Given the description of an element on the screen output the (x, y) to click on. 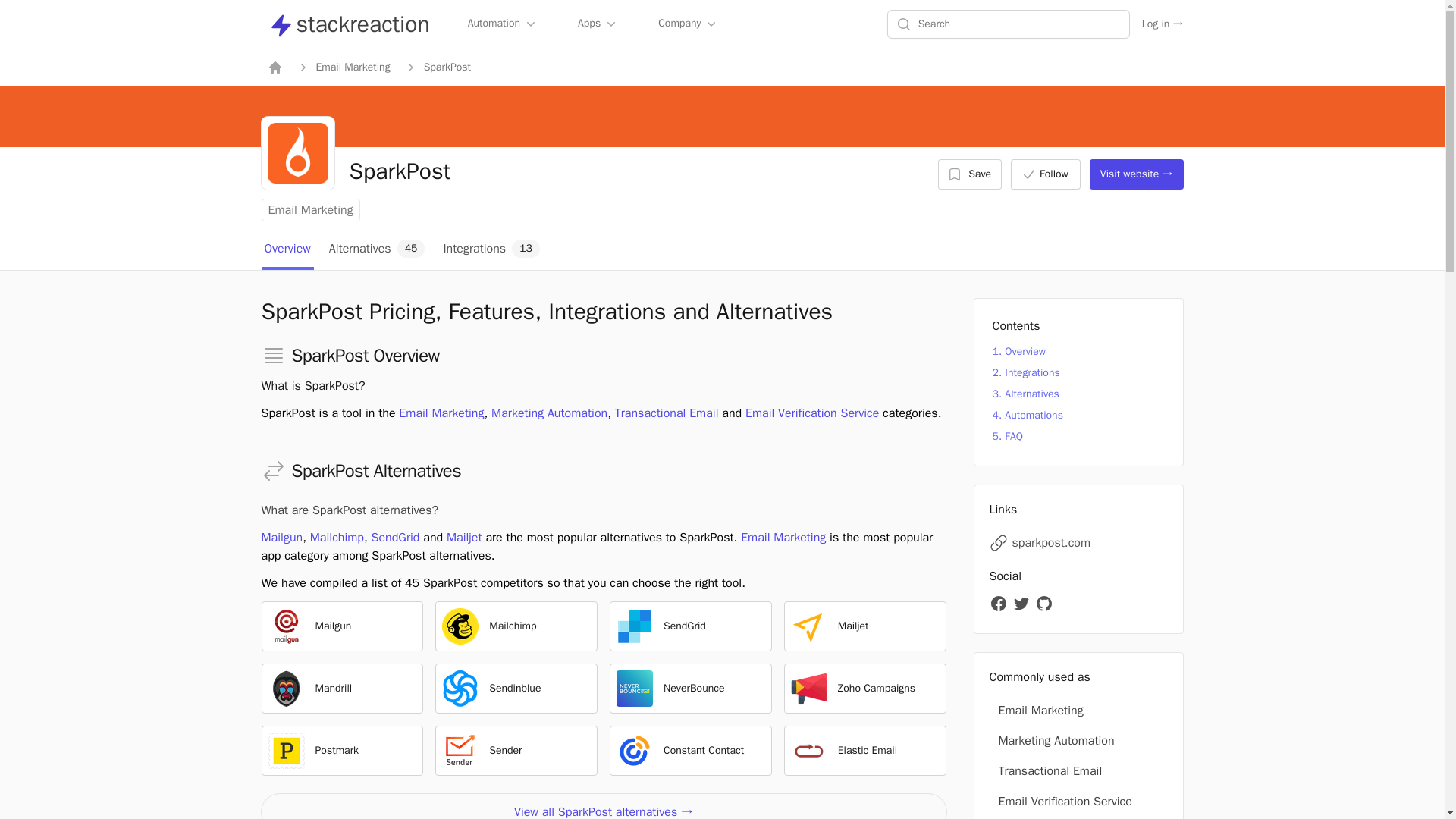
Email Verification Service (812, 412)
Mailgun (367, 626)
Zoho Campaigns (808, 688)
SendGrid (633, 626)
Company (688, 23)
Sendinblue (540, 688)
Email Marketing (309, 210)
Now Mailchimp Transactional (367, 688)
A Developer-Friendly Email API Service (367, 626)
Mailgun (285, 626)
Marketing Automation (549, 412)
Comprehensive Online Customer Relationship Management Suite (540, 688)
Cloud-based email delivery service from Twilio (715, 626)
Mailjet (889, 626)
Postmark (285, 750)
